Given the description of an element on the screen output the (x, y) to click on. 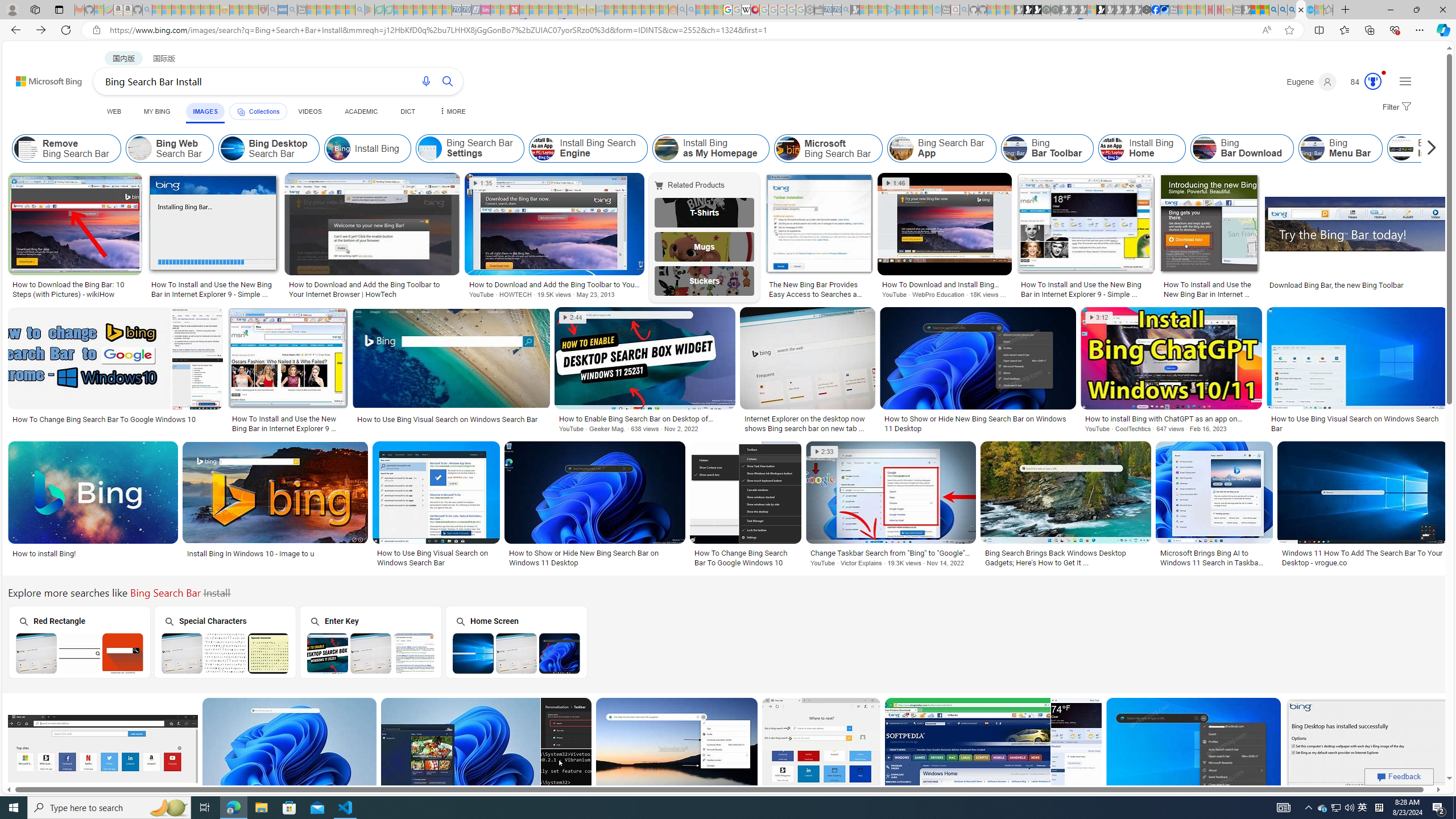
Red Rectangle (78, 641)
Eugene (1311, 81)
How To Change Bing Search Bar To Google Windows 10 (745, 557)
Class: b_pri_nav_svg (240, 112)
Back to Bing search (41, 78)
ACADEMIC (360, 111)
